Given the description of an element on the screen output the (x, y) to click on. 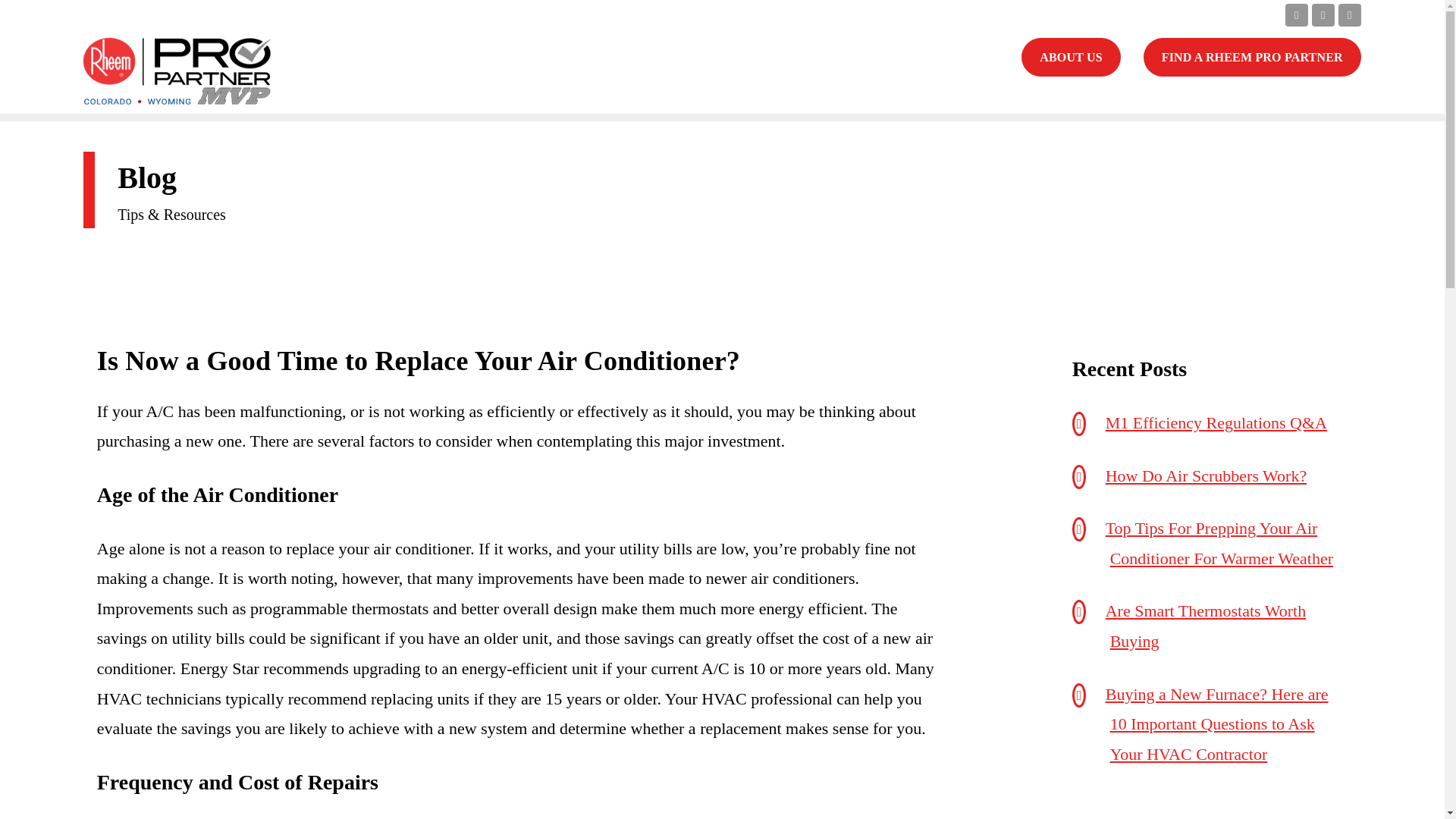
Call Us: 303-399-1752 (990, 14)
Contact Us (1070, 56)
How Do Air Scrubbers Work? (1205, 475)
FIND A RHEEM PRO PARTNER (1251, 56)
ABOUT US (1070, 56)
Are Smart Thermostats Worth Buying (1205, 625)
Find a Rheem Pro Partner (1251, 56)
Rheem Pro Partners MVPs (176, 71)
